Given the description of an element on the screen output the (x, y) to click on. 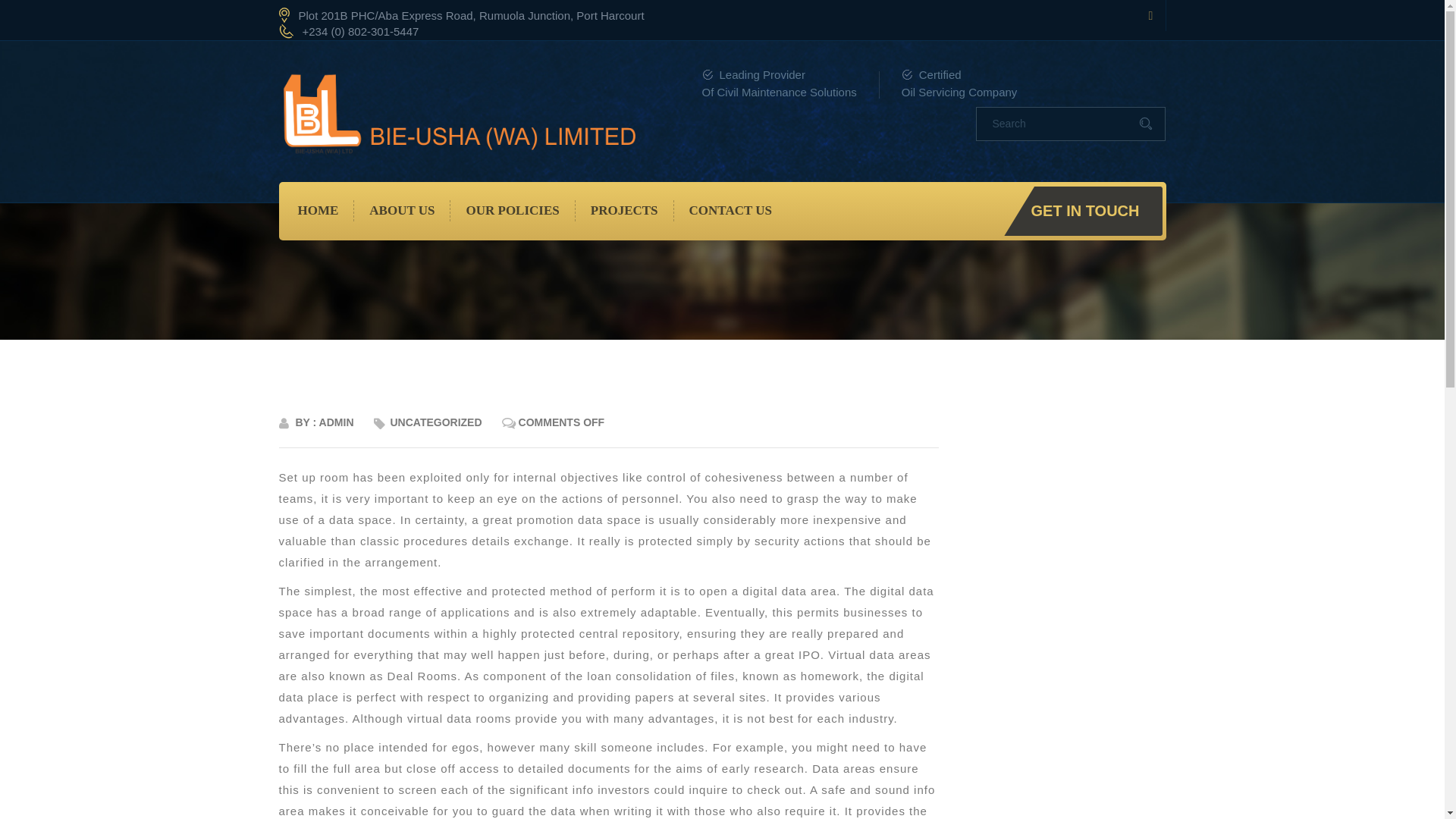
GET IN TOUCH (1082, 210)
Contact Us (730, 210)
Home (317, 210)
HOME (317, 210)
CONTACT US (730, 210)
Search (1058, 123)
Our Policies (512, 210)
ABOUT US (401, 210)
UNCATEGORIZED (435, 422)
About Us (401, 210)
